Given the description of an element on the screen output the (x, y) to click on. 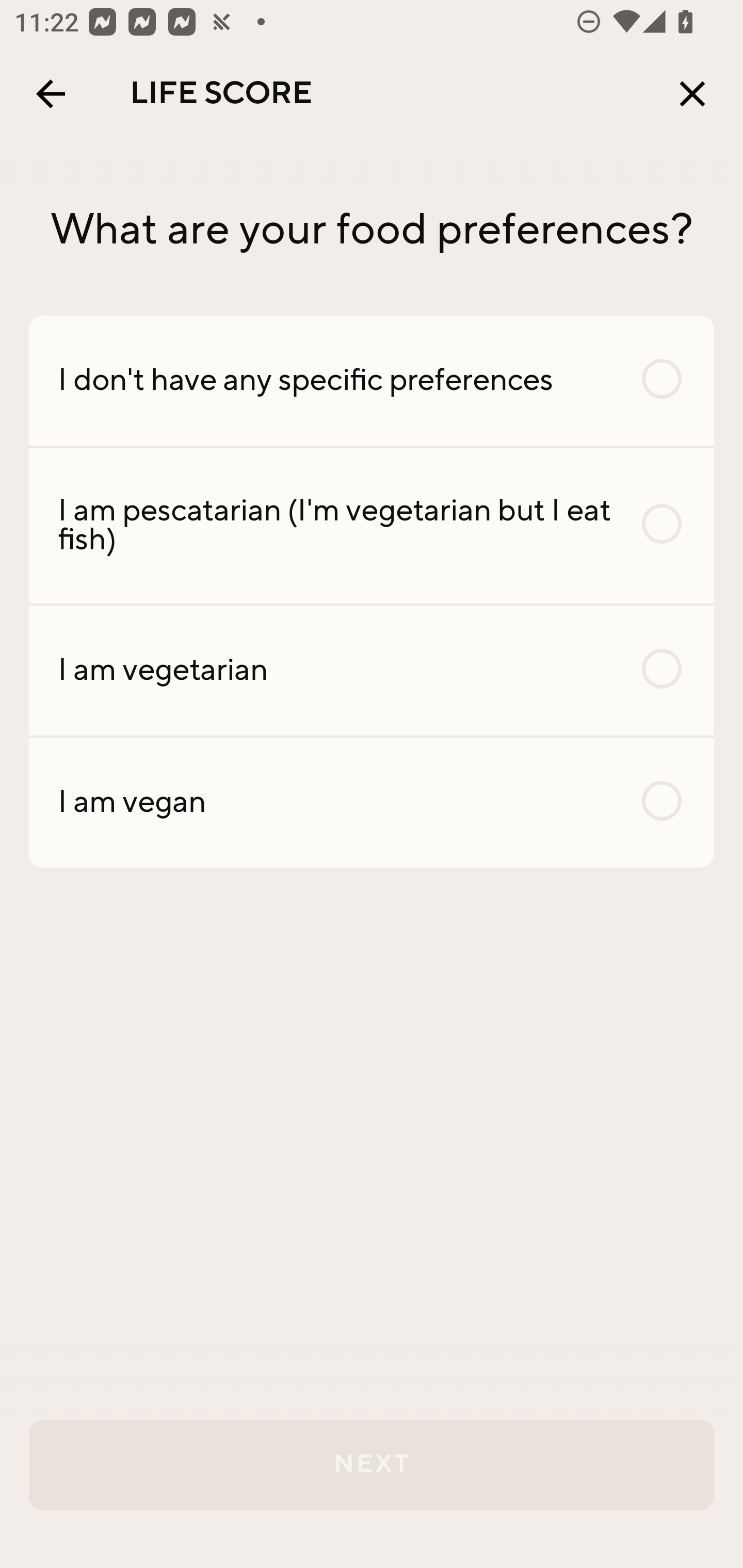
I don't have any specific preferences (371, 380)
I am pescatarian (I'm vegetarian but I eat fish) (371, 525)
I am vegetarian (371, 670)
I am vegan (371, 801)
NEXT (371, 1464)
